Given the description of an element on the screen output the (x, y) to click on. 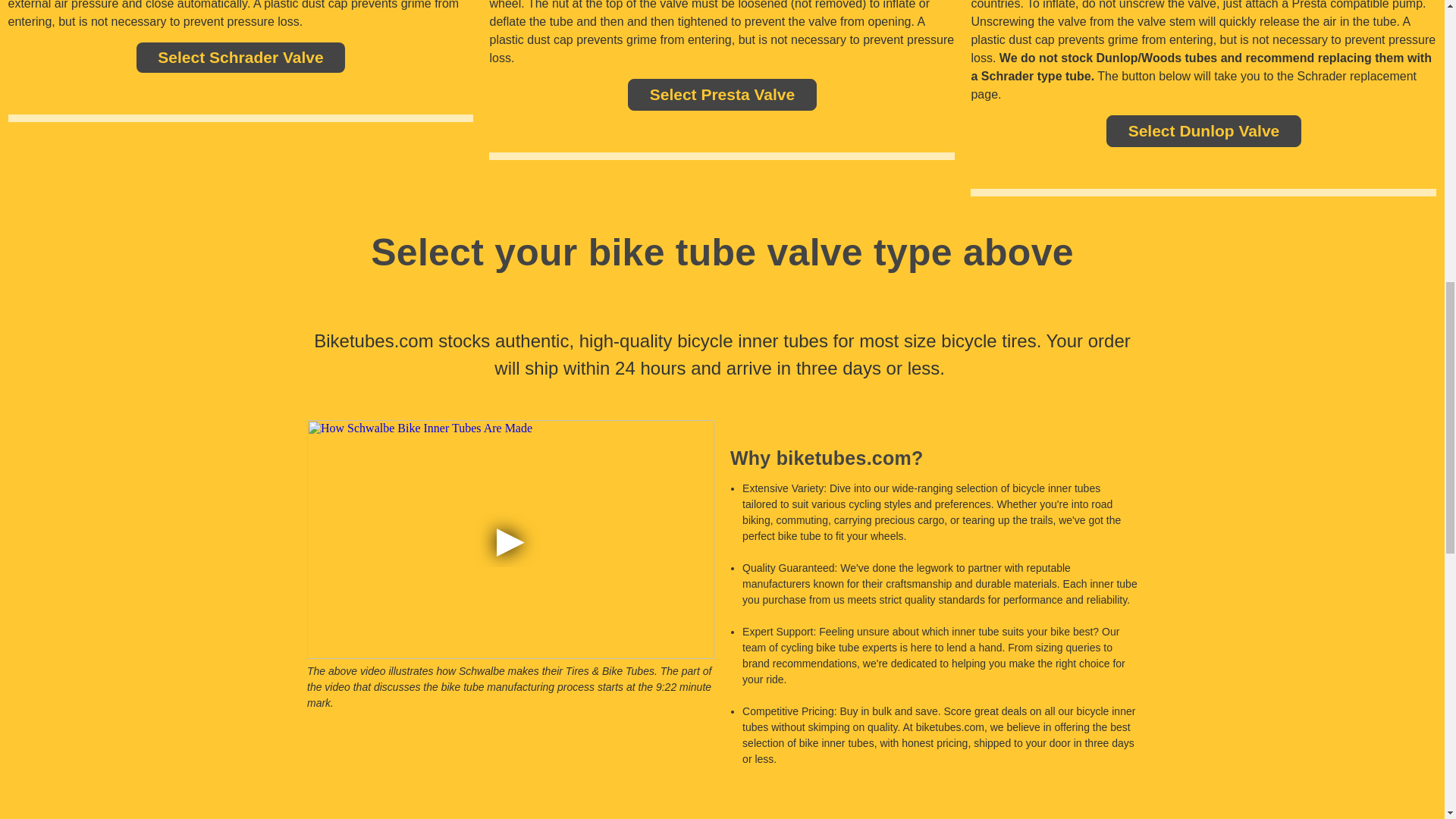
Select Schrader Valve (239, 57)
Select Dunlop Valve (1203, 131)
How Schwable Bike Inner Tubes Are Made (510, 539)
Select Presta Valve (721, 94)
